Given the description of an element on the screen output the (x, y) to click on. 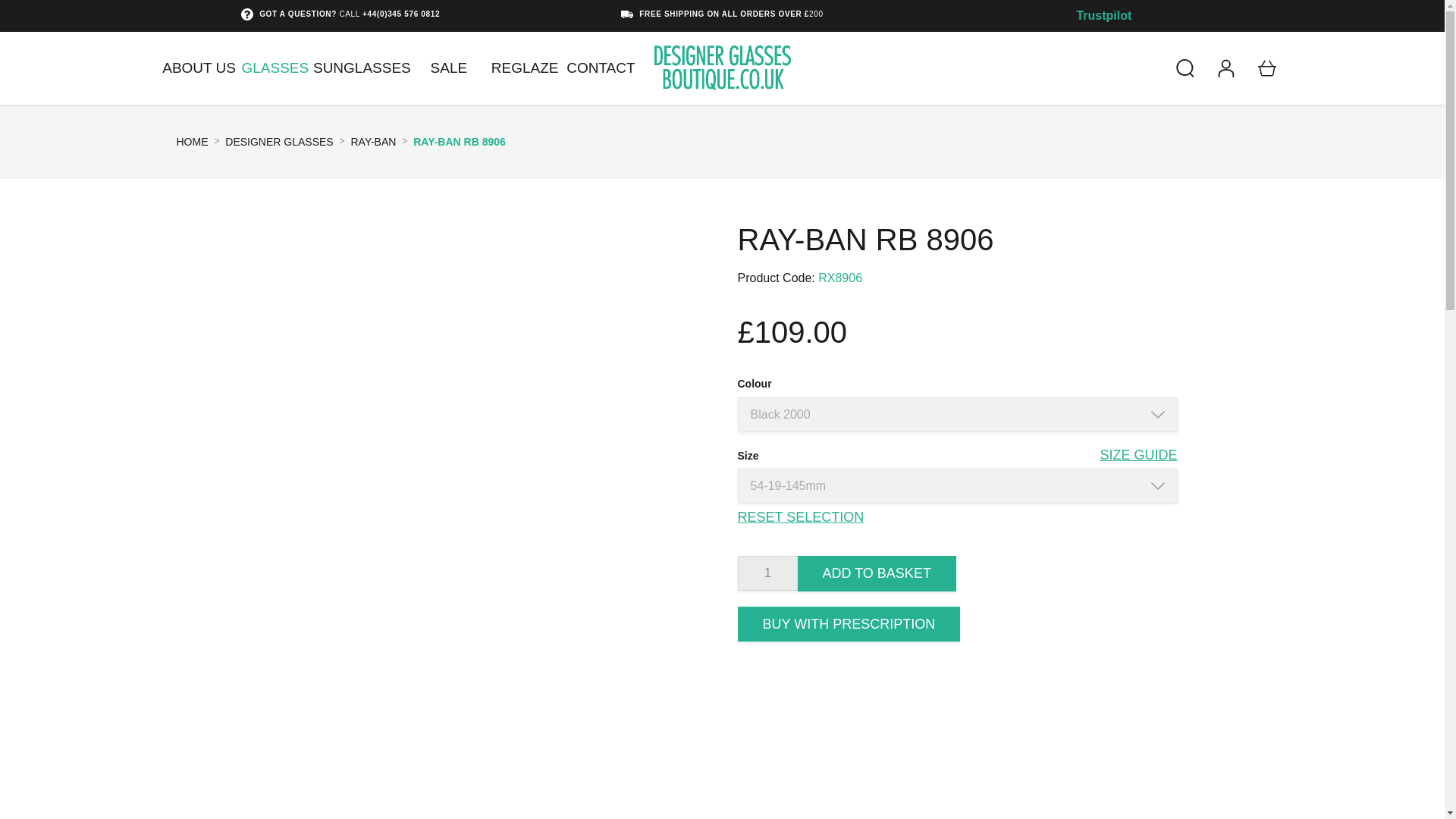
Qty (766, 573)
ABOUT US (197, 67)
My account (1224, 67)
View basket (1266, 67)
Search (1183, 67)
GLASSES (275, 67)
1 (766, 573)
Trustpilot (1103, 15)
